Given the description of an element on the screen output the (x, y) to click on. 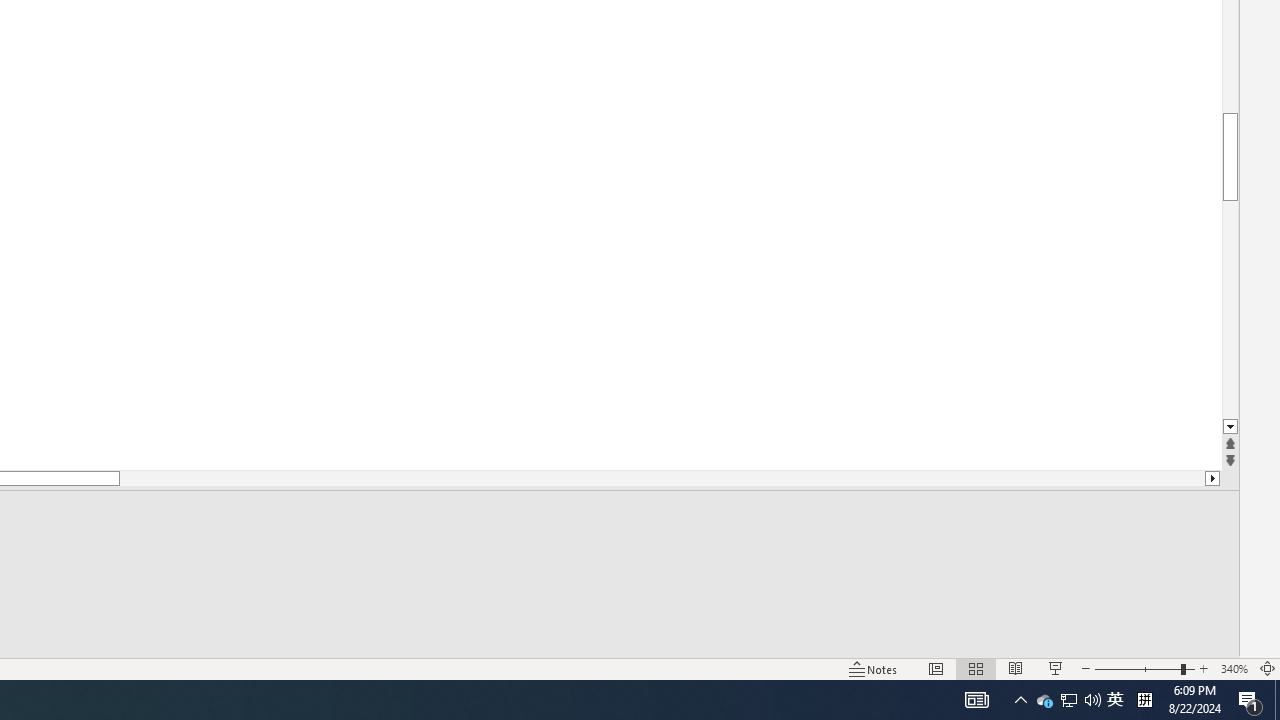
Zoom 340% (1234, 668)
